Given the description of an element on the screen output the (x, y) to click on. 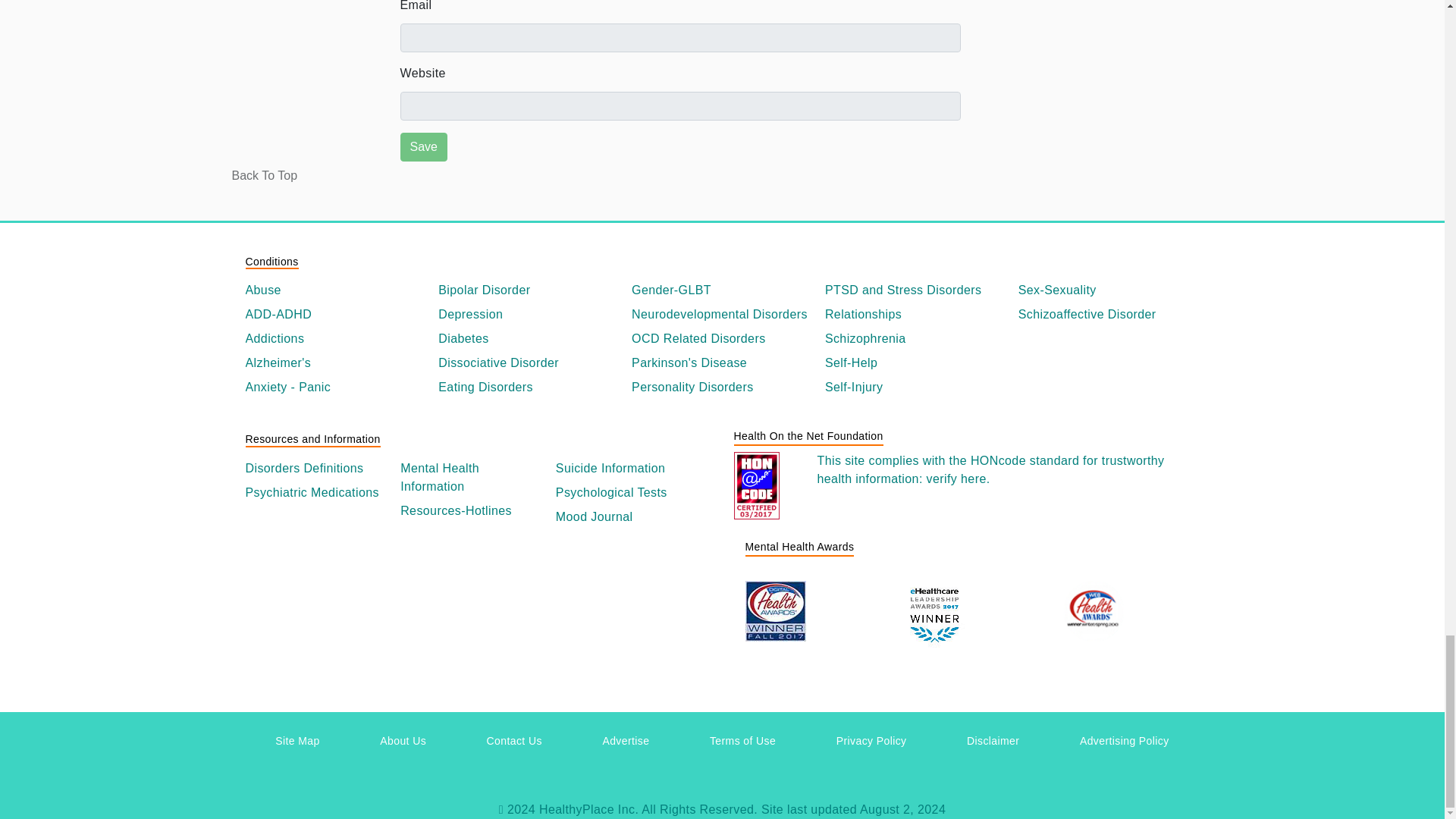
Parkinson's Disease Information Articles (721, 362)
